Given the description of an element on the screen output the (x, y) to click on. 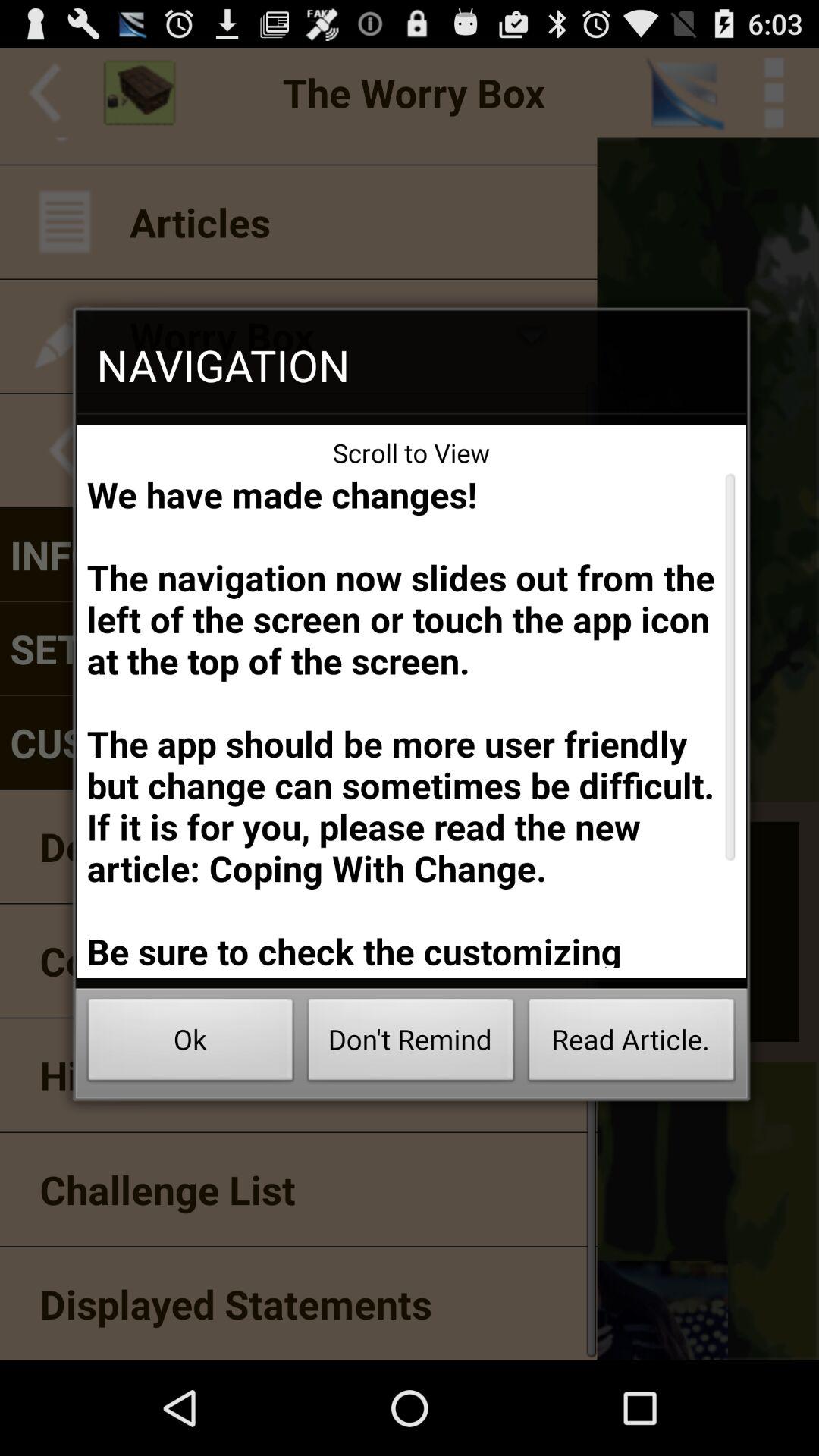
turn off item at the bottom left corner (190, 1044)
